Given the description of an element on the screen output the (x, y) to click on. 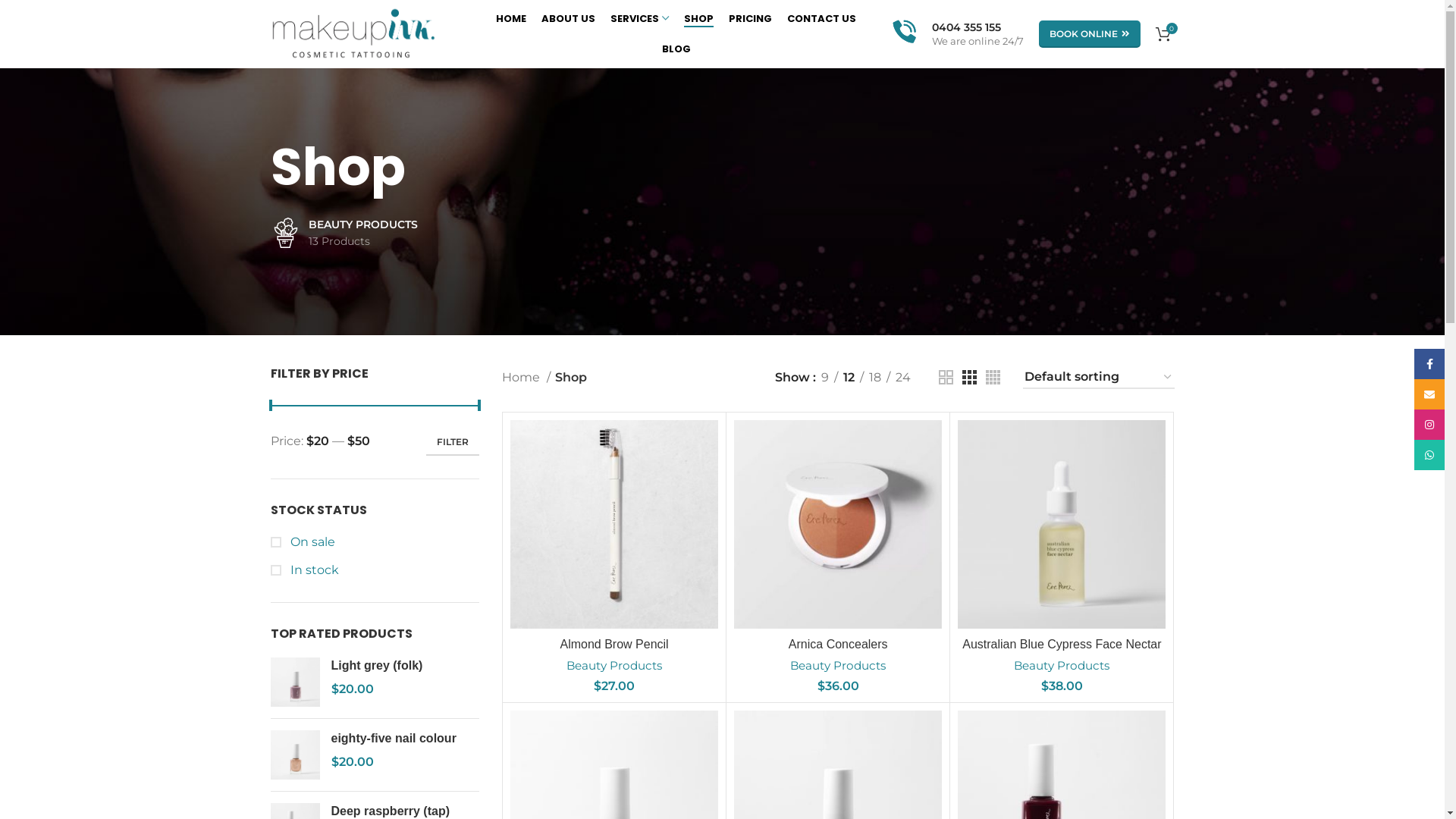
18 Element type: text (873, 377)
cat-flower Element type: hover (284, 232)
BLOG Element type: text (675, 49)
SERVICES Element type: text (639, 18)
Almond Brow Pencil Element type: text (613, 643)
9 Element type: text (824, 377)
MUI-logo-white Element type: hover (412, 505)
Beauty Products Element type: text (614, 665)
eighty-five nail colour Element type: hover (294, 754)
Australian Blue Cypress Face Nectar Element type: text (1061, 643)
Light grey (folk) Element type: text (404, 665)
BOOK ONLINE Element type: text (1089, 33)
12 Element type: text (848, 377)
wd-envelope-dark Element type: hover (274, 638)
BEAUTY PRODUCTS
13 Products Element type: text (344, 233)
FILTER Element type: text (452, 441)
CONTACT US Element type: text (821, 18)
Home Element type: text (526, 377)
wd-cursor-dark Element type: hover (274, 581)
SHOP Element type: text (698, 18)
Wake Up With Makeup 24/7 With Makeup Ink Sydney Element type: text (1030, 502)
On sale Element type: text (374, 541)
Beauty Products Element type: text (1061, 665)
ABOUT US Element type: text (567, 18)
wd-phone-dark Element type: hover (274, 609)
In stock Element type: text (374, 569)
Beauty Products Element type: text (837, 665)
0404 355 155
We are online 24/7 Element type: text (956, 33)
0 Element type: text (1163, 33)
PRICING Element type: text (750, 18)
Arnica Concealers Element type: text (838, 643)
eighty-five nail colour Element type: text (404, 738)
Light grey (folk) Element type: hover (294, 681)
24 Element type: text (903, 377)
HOME Element type: text (510, 18)
